Given the description of an element on the screen output the (x, y) to click on. 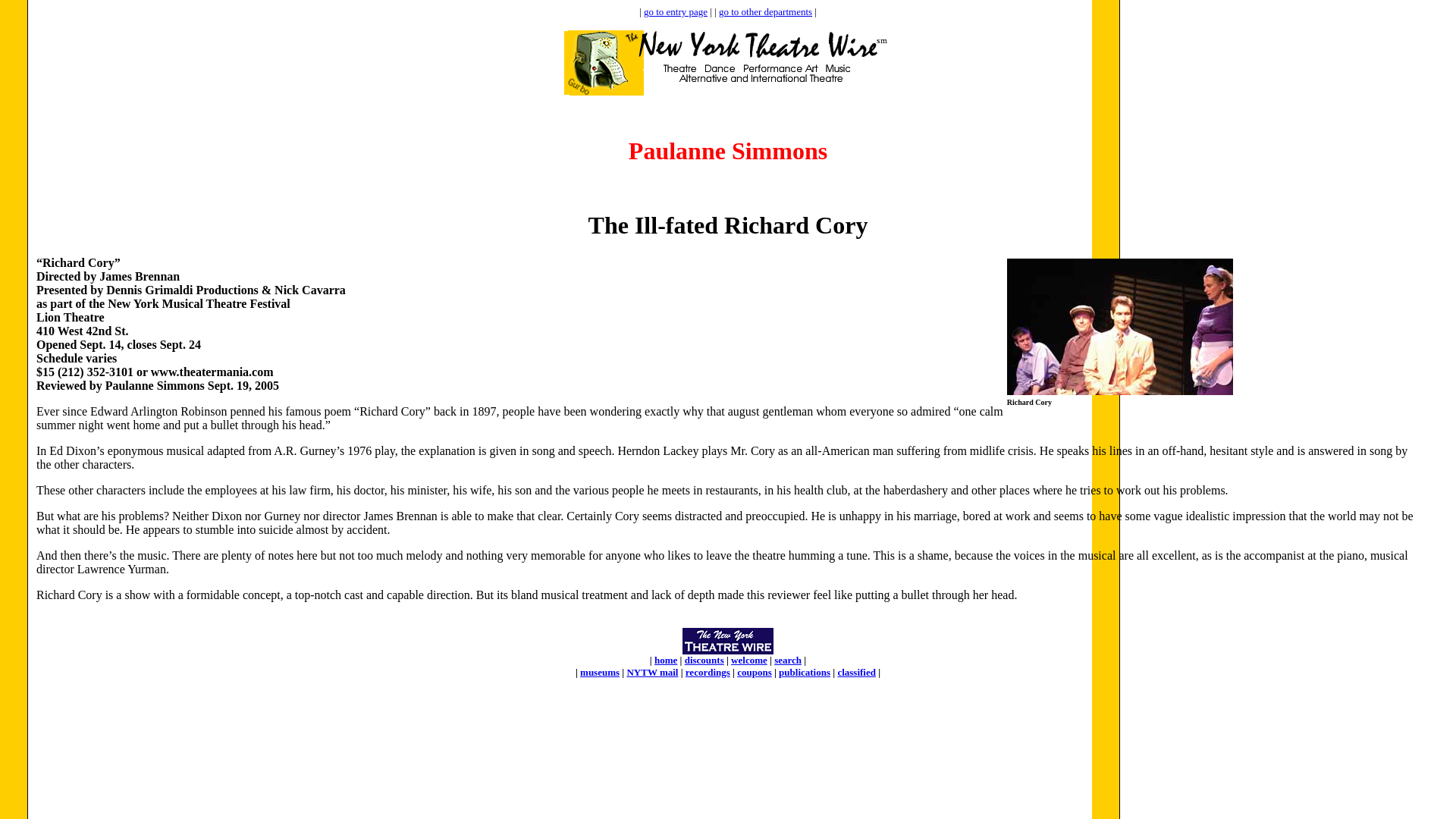
welcome (748, 659)
recordings (707, 672)
museums (599, 672)
home (665, 659)
classified (856, 672)
publications (803, 672)
go to entry page (675, 11)
discounts (703, 659)
NYTW mail (652, 672)
coupons (753, 672)
